Given the description of an element on the screen output the (x, y) to click on. 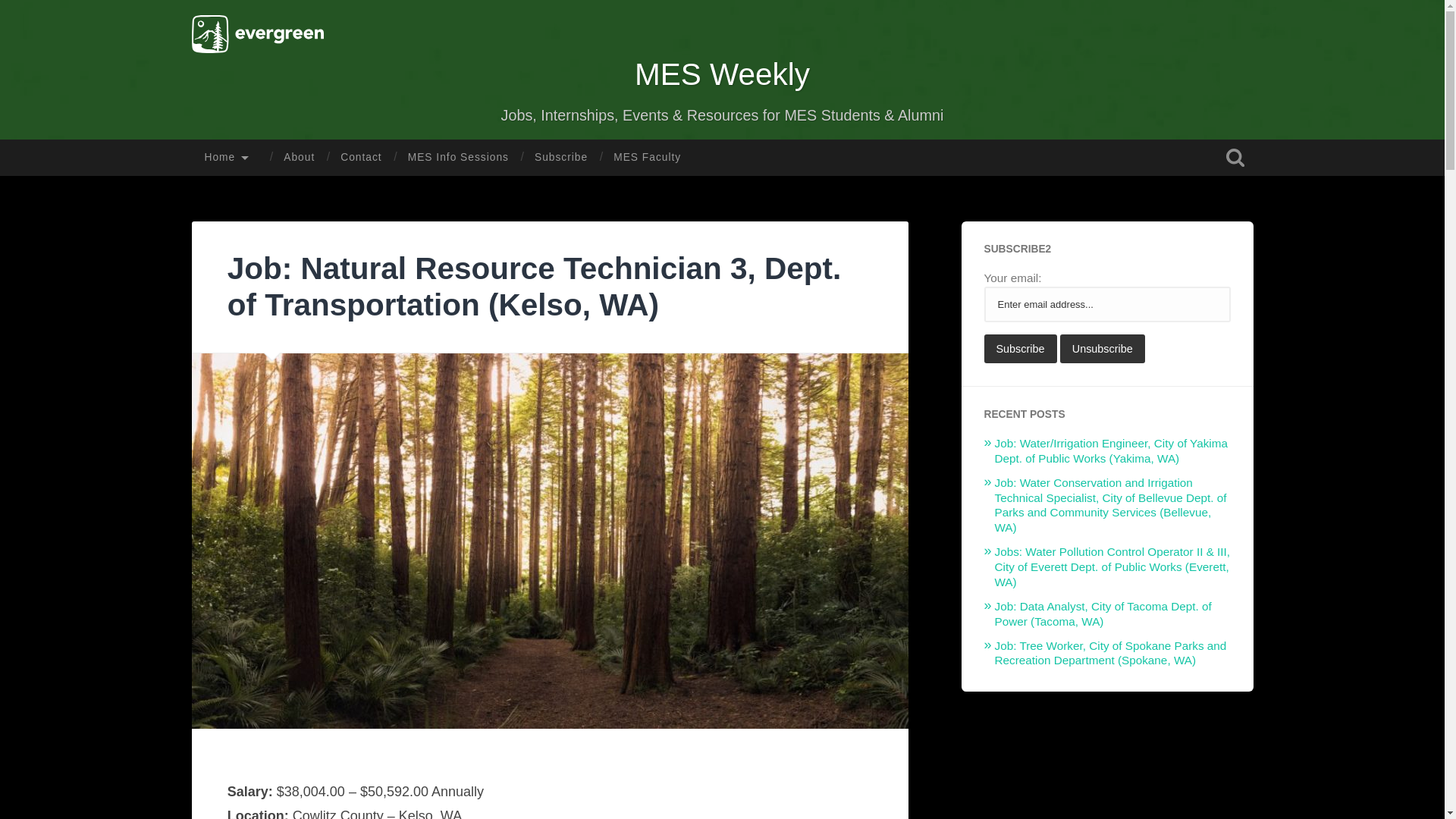
Enter email address... (1107, 304)
Subscribe (560, 157)
Contact (360, 157)
MES Weekly (721, 73)
Unsubscribe (1101, 348)
Subscribe (1020, 348)
About (298, 157)
Home (230, 157)
MES Faculty (646, 157)
MES Info Sessions (457, 157)
